Given the description of an element on the screen output the (x, y) to click on. 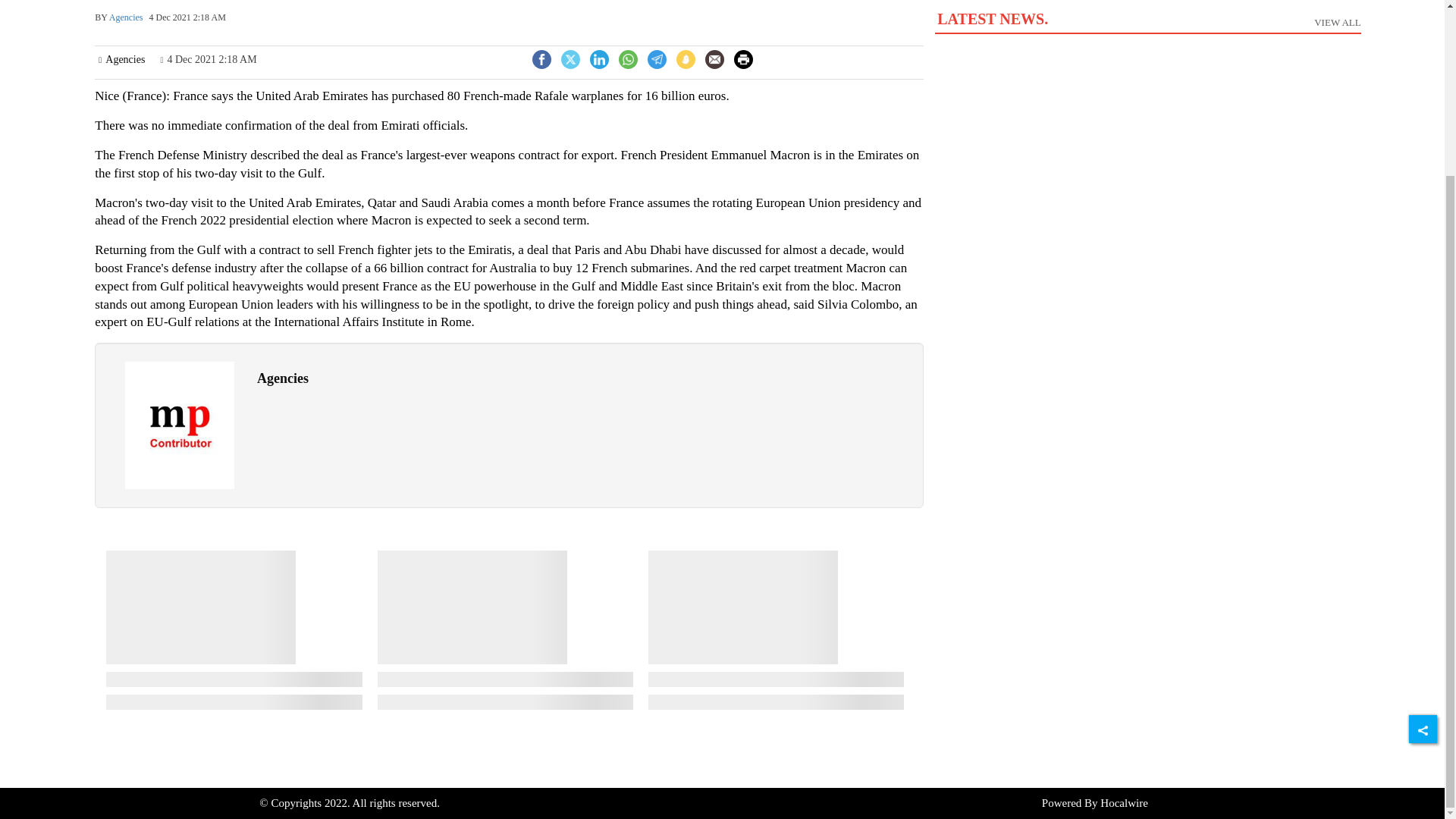
whatsapp (628, 59)
print (743, 59)
Agencies (179, 424)
linkedin (599, 59)
twitter (1146, 28)
facebook (570, 59)
Facebook (541, 59)
Twitter (541, 57)
koo (569, 57)
Email (685, 59)
Share by Email (713, 58)
Print (713, 61)
LinkedIn (742, 57)
telegram (598, 57)
